Given the description of an element on the screen output the (x, y) to click on. 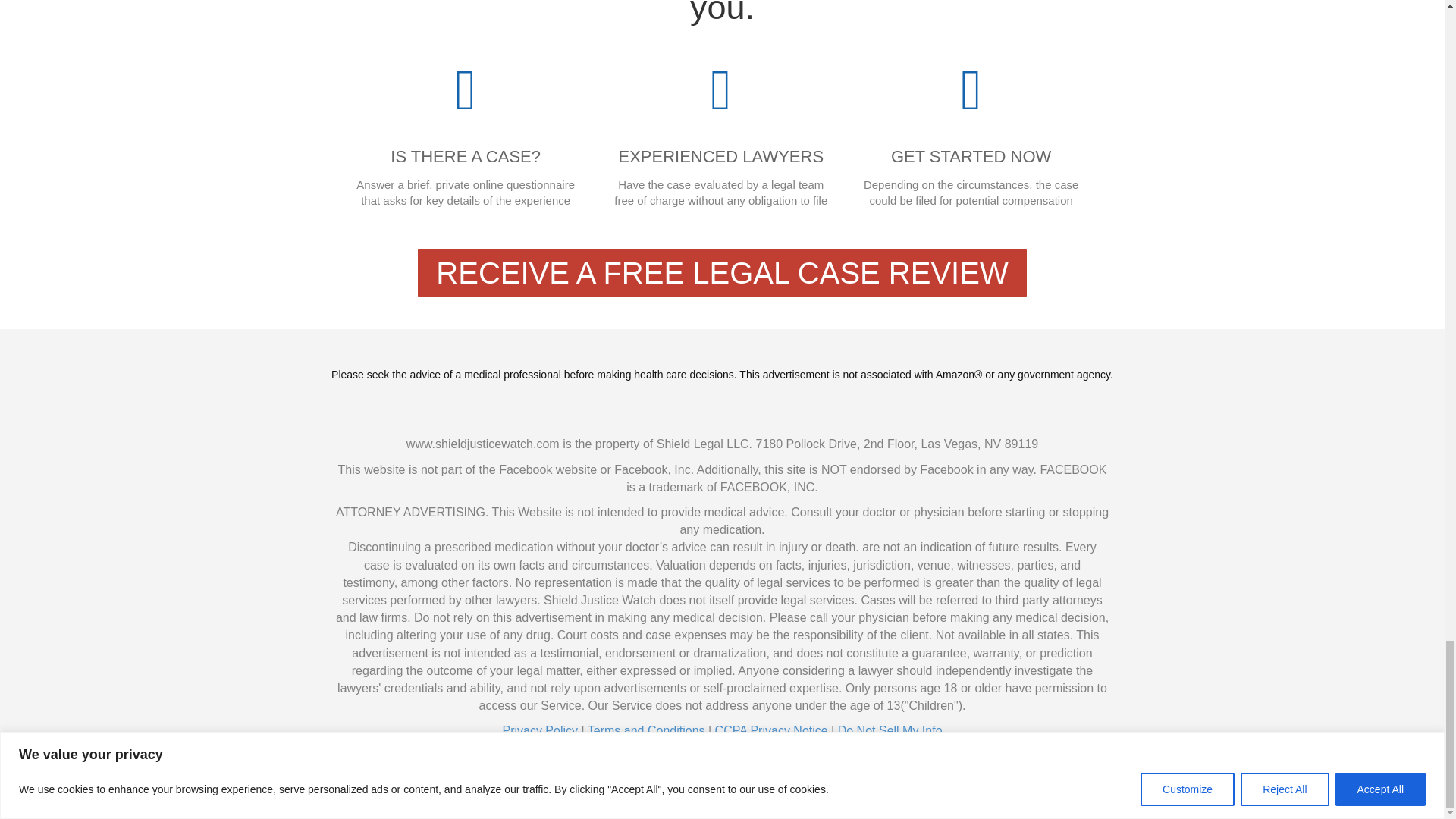
RECEIVE A FREE LEGAL CASE REVIEW (721, 272)
Privacy Policy (540, 730)
Terms and Conditions (646, 730)
Do Not Sell My Info (890, 730)
CCPA Privacy Notice (771, 730)
